Given the description of an element on the screen output the (x, y) to click on. 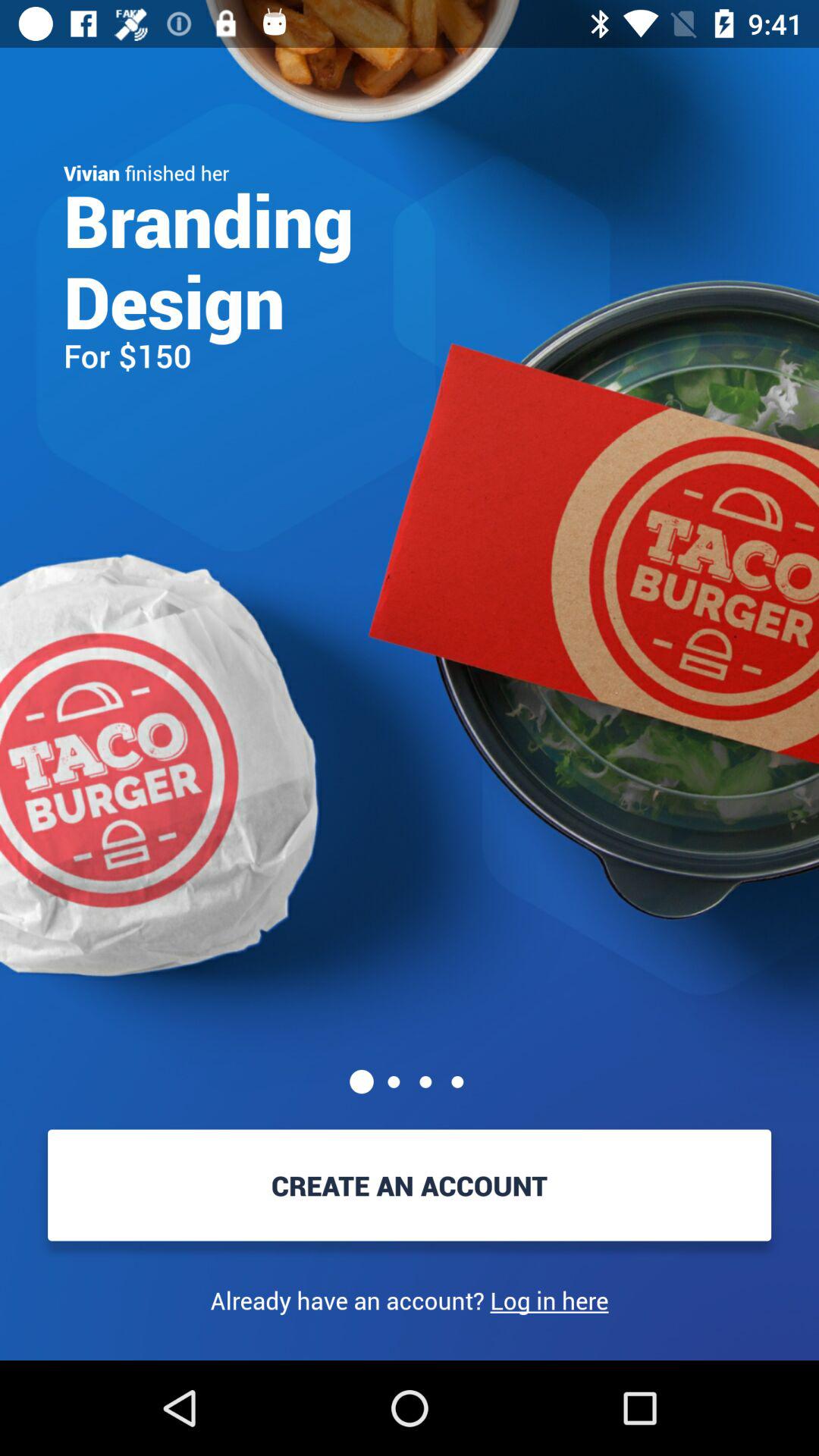
open already have an (409, 1300)
